Given the description of an element on the screen output the (x, y) to click on. 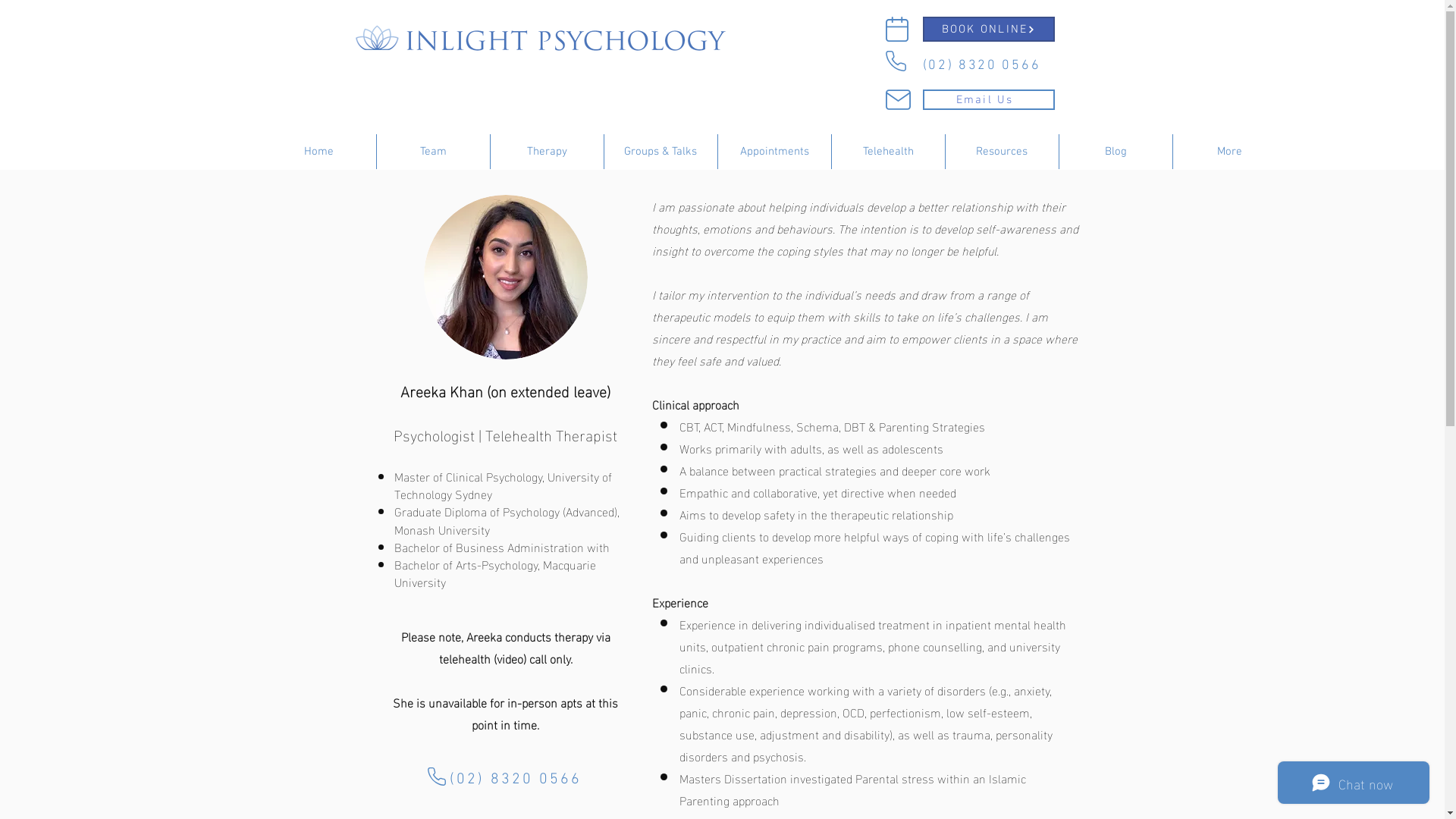
Inlight long.png Element type: hover (546, 40)
Groups & Talks Element type: text (659, 151)
Telehealth Element type: text (887, 151)
Blog Element type: text (1114, 151)
BOOK ONLINE Element type: text (988, 28)
Home Element type: text (319, 151)
Therapy Element type: text (545, 151)
(02) 8320 0566 Element type: text (981, 62)
Team Element type: text (432, 151)
Resources Element type: text (1000, 151)
Email Us Element type: text (988, 99)
Appointments Element type: text (773, 151)
